Given the description of an element on the screen output the (x, y) to click on. 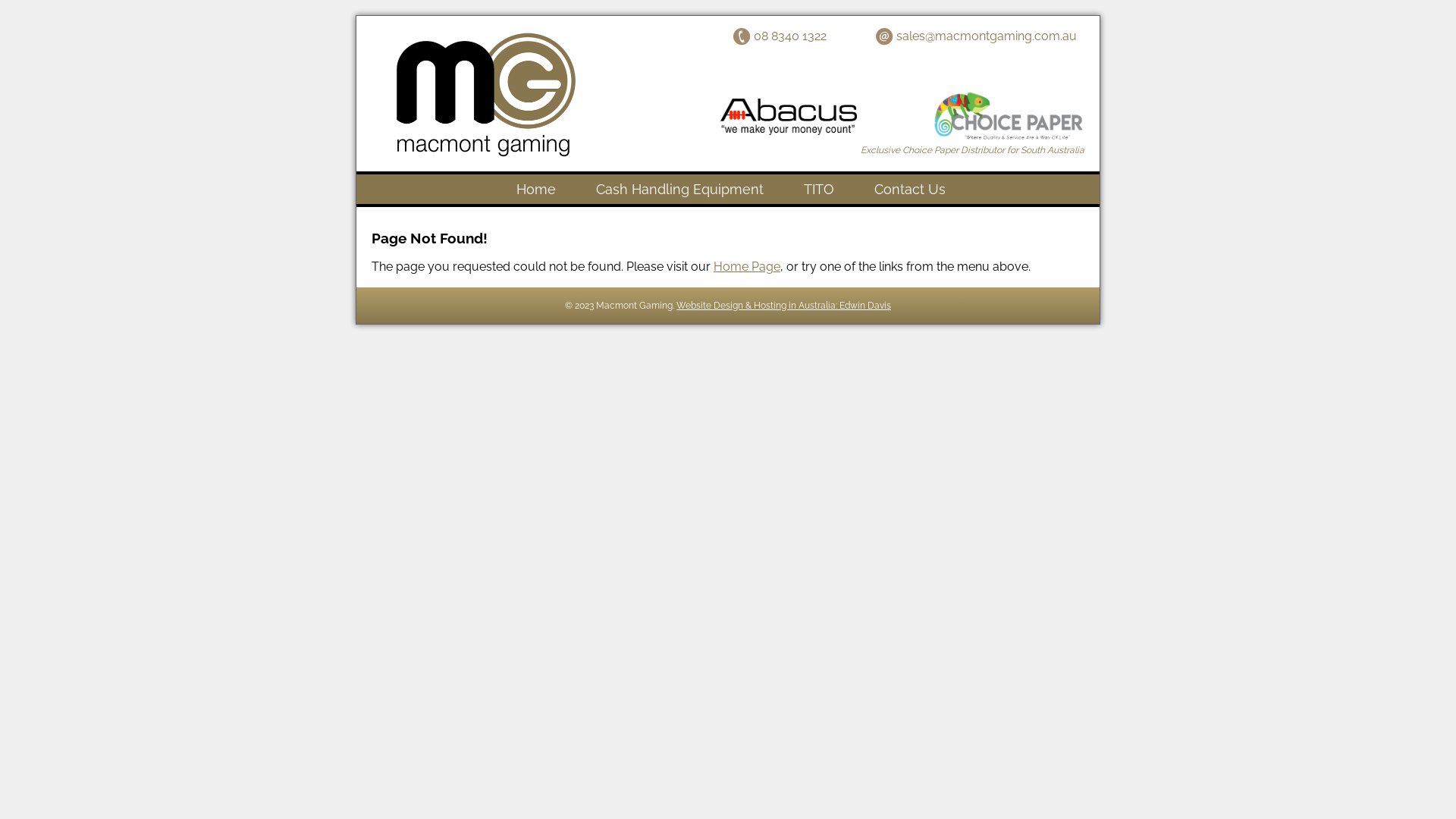
Cash Handling Equipment Element type: text (679, 188)
08 8340 1322 Element type: text (779, 35)
Website Design & Hosting in Australia: Edwin Davis Element type: text (783, 305)
sales@macmontgaming.com.au Element type: text (975, 35)
TITO Element type: text (818, 188)
Exclusive Choice Paper Distributor for South Australia Element type: text (972, 149)
Home Page Element type: text (746, 266)
Home Element type: text (535, 188)
Contact Us Element type: text (909, 188)
